Given the description of an element on the screen output the (x, y) to click on. 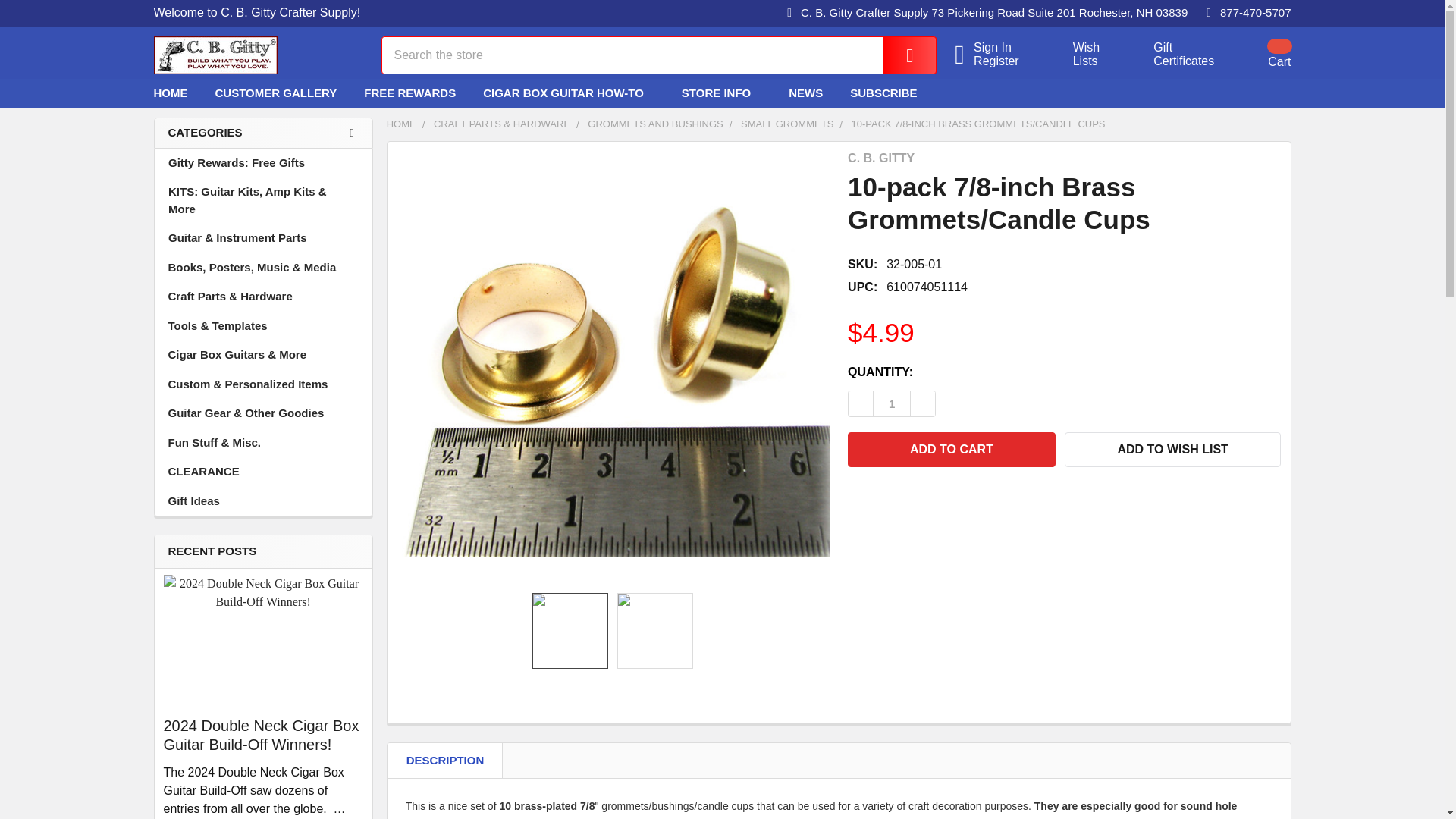
Cart (1260, 54)
Register (1174, 54)
Search (1005, 60)
Search (899, 55)
Gift Certificates (1077, 54)
877-470-5707 (899, 55)
Cart (1174, 54)
1 (1243, 13)
